Given the description of an element on the screen output the (x, y) to click on. 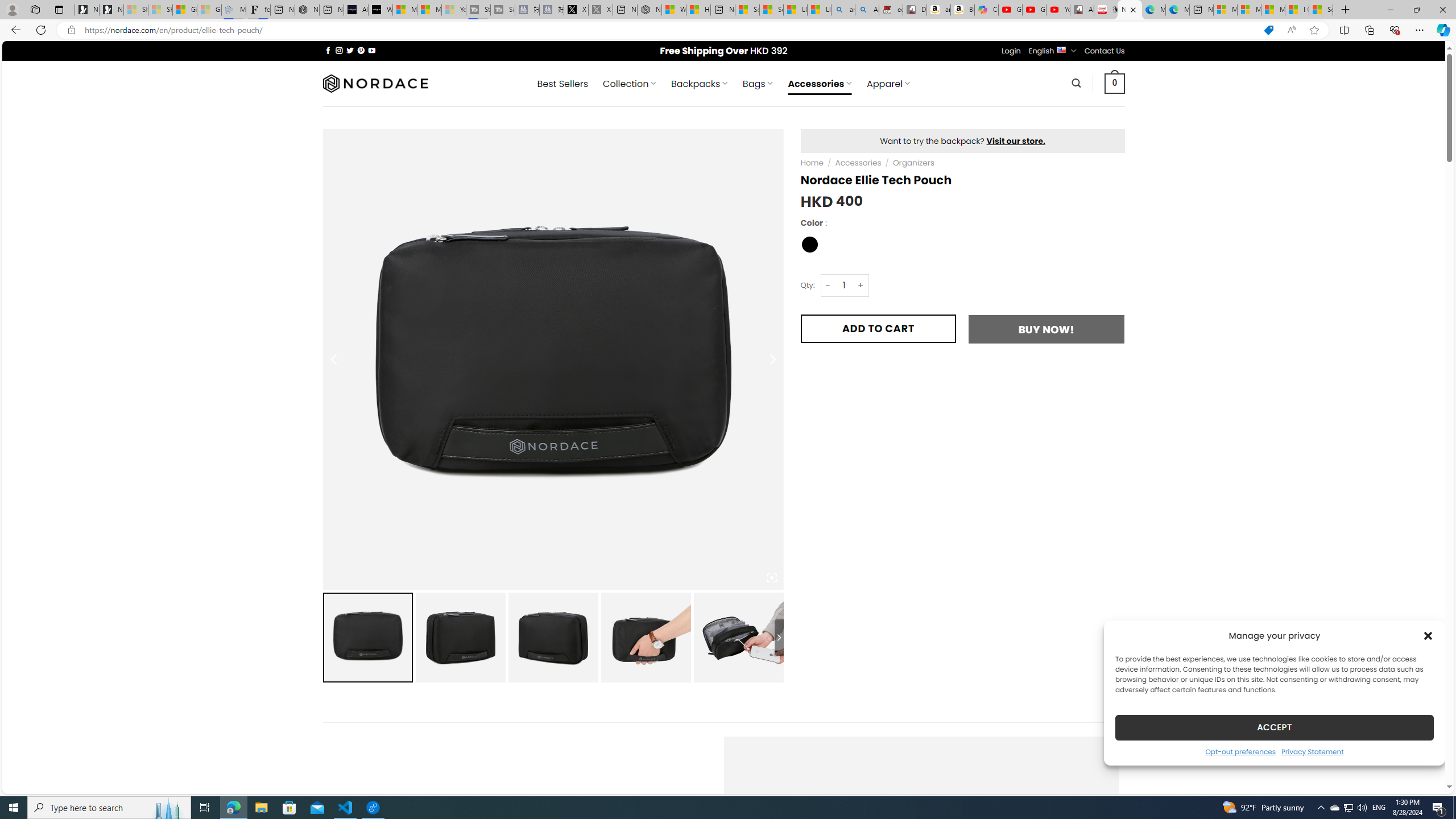
This site has coupons! Shopping in Microsoft Edge (1268, 29)
Nordace - My Account (648, 9)
Visit our store. (1015, 140)
